Given the description of an element on the screen output the (x, y) to click on. 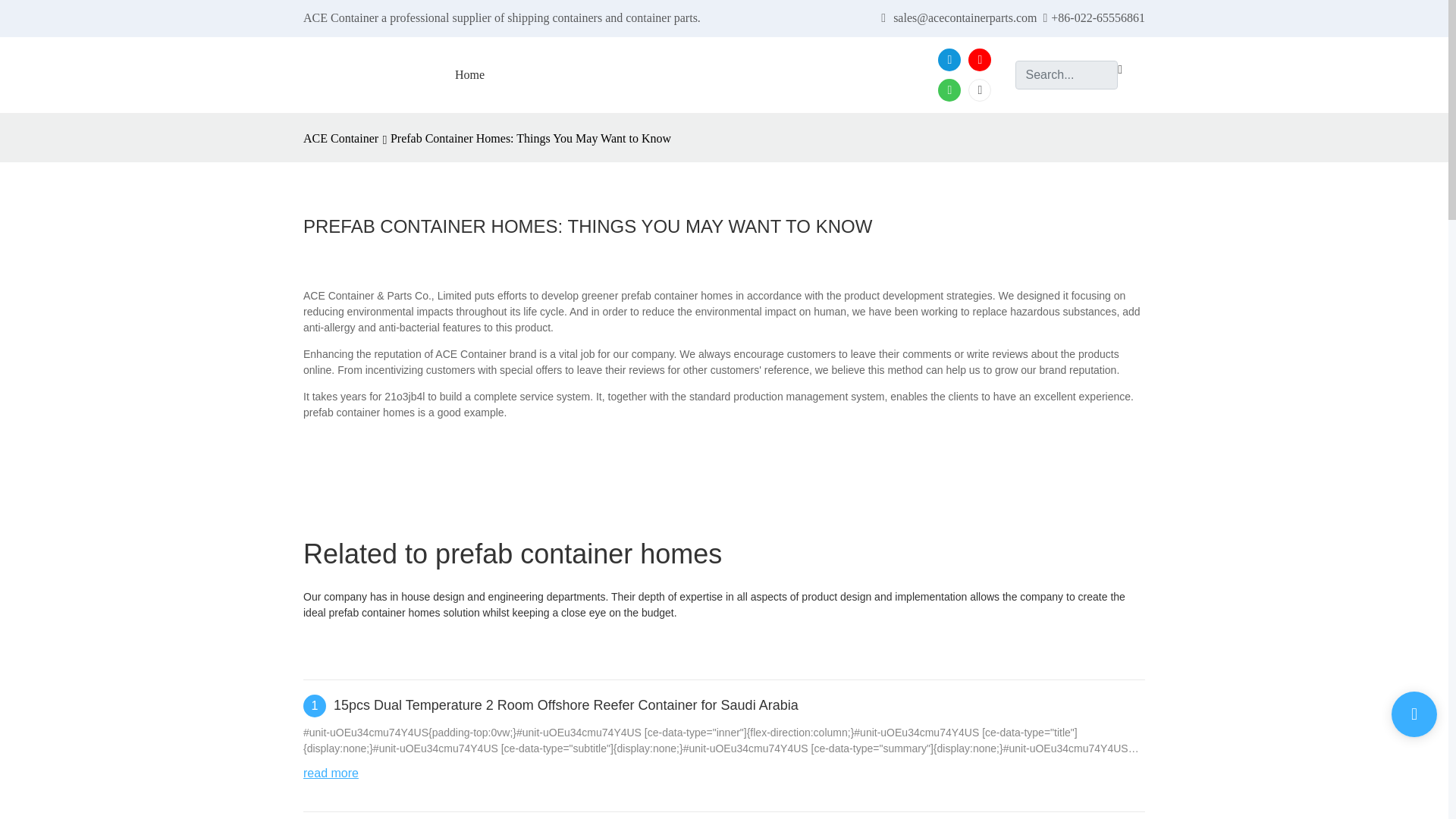
Home (469, 75)
